Given the description of an element on the screen output the (x, y) to click on. 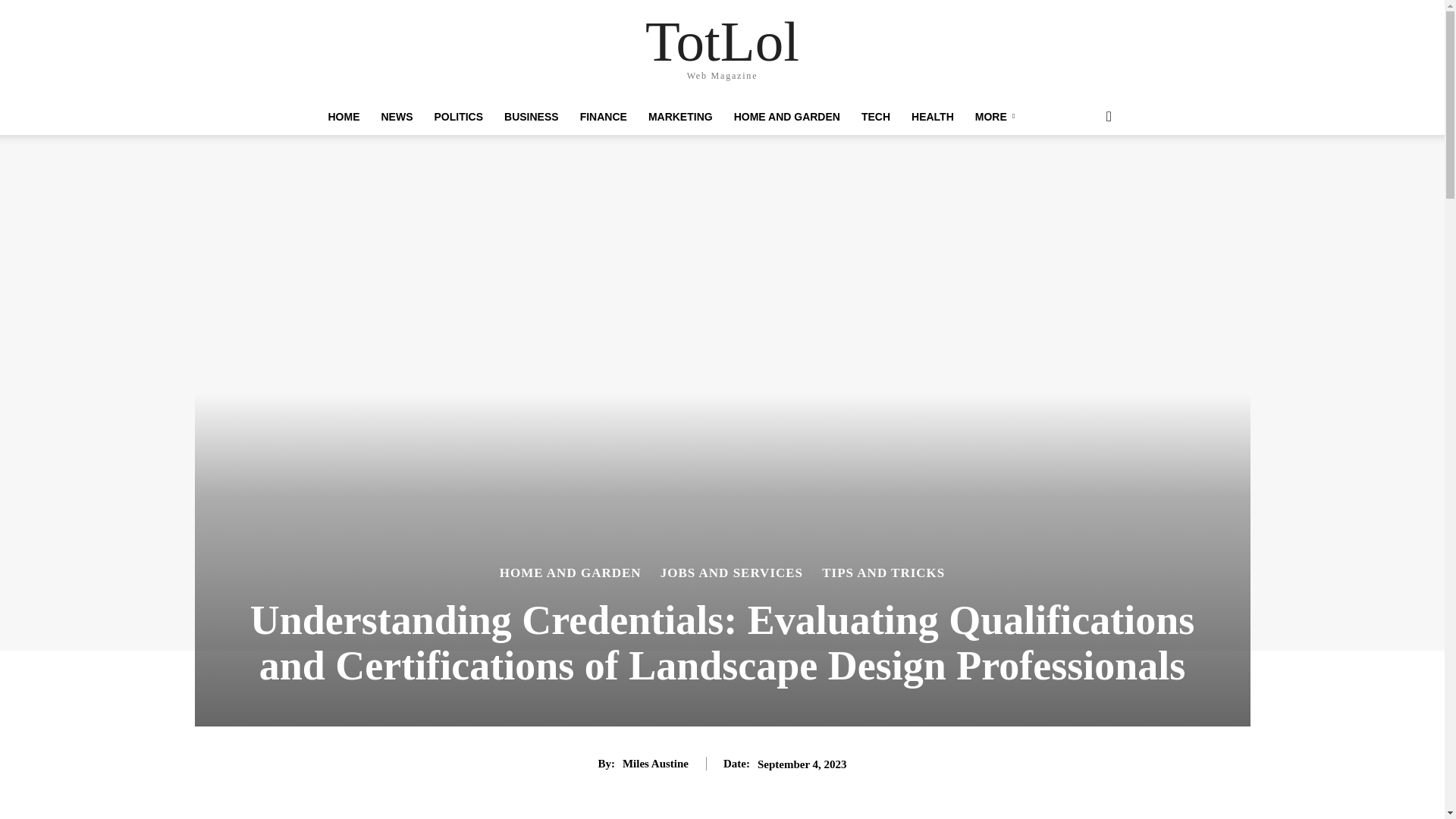
HOME AND GARDEN (786, 116)
HEALTH (932, 116)
HOME (343, 116)
BUSINESS (531, 116)
NEWS (396, 116)
FINANCE (603, 116)
MARKETING (680, 116)
MORE (996, 116)
POLITICS (458, 116)
TotLol (722, 41)
TECH (875, 116)
